Given the description of an element on the screen output the (x, y) to click on. 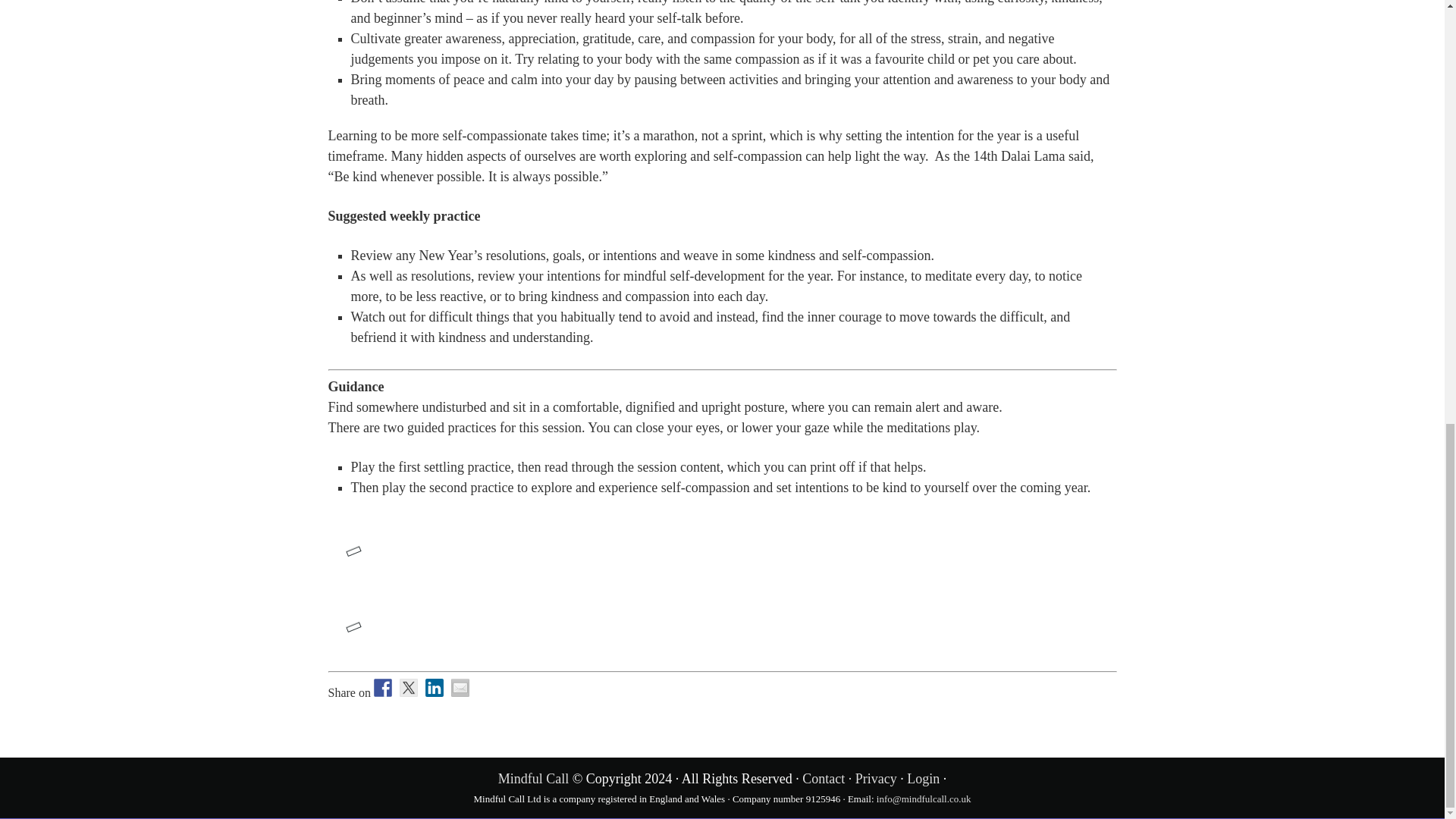
Login (923, 778)
Mindful Call (533, 778)
Privacy (876, 778)
Share on Facebook (382, 687)
